Given the description of an element on the screen output the (x, y) to click on. 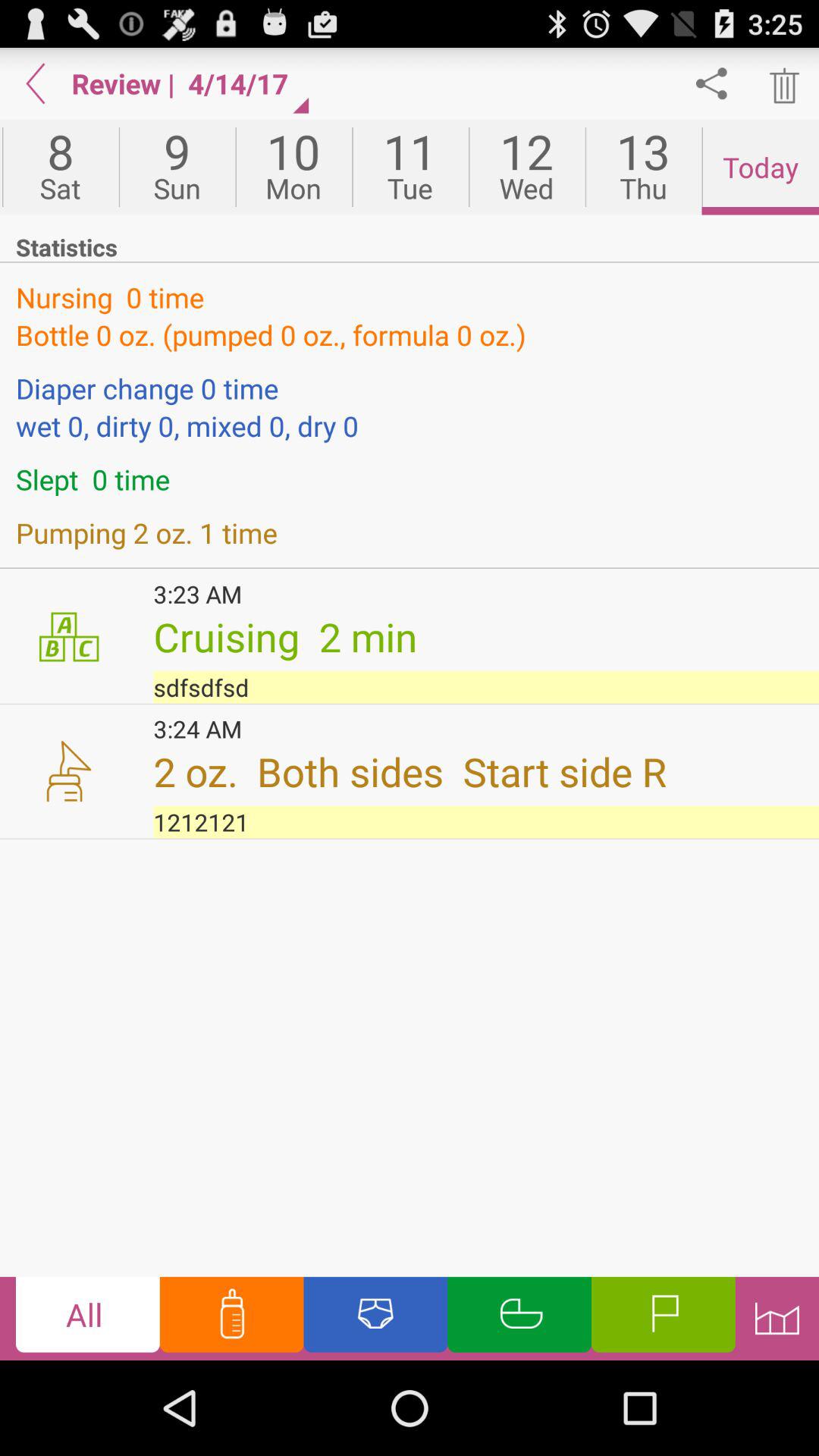
add information about the formula (231, 1318)
